Given the description of an element on the screen output the (x, y) to click on. 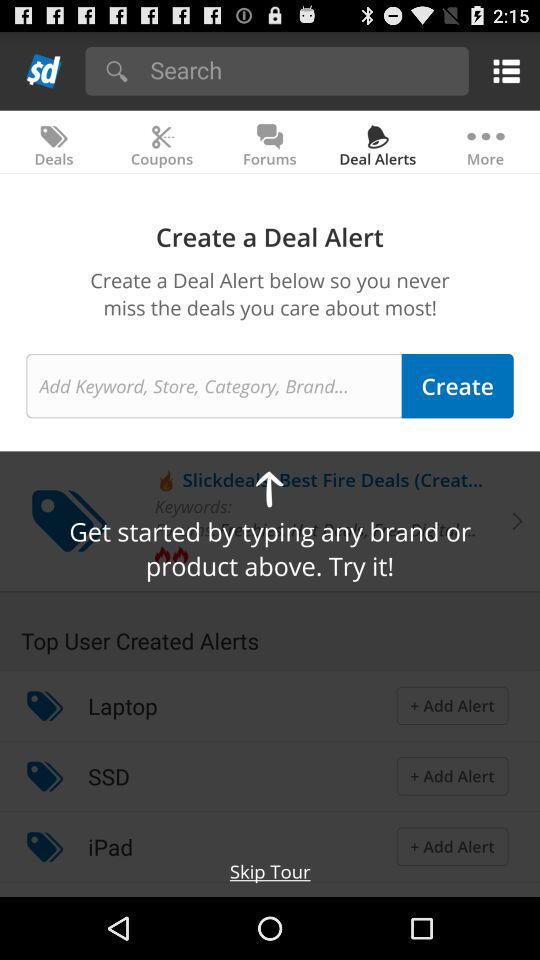
click the top user created icon (270, 631)
